Given the description of an element on the screen output the (x, y) to click on. 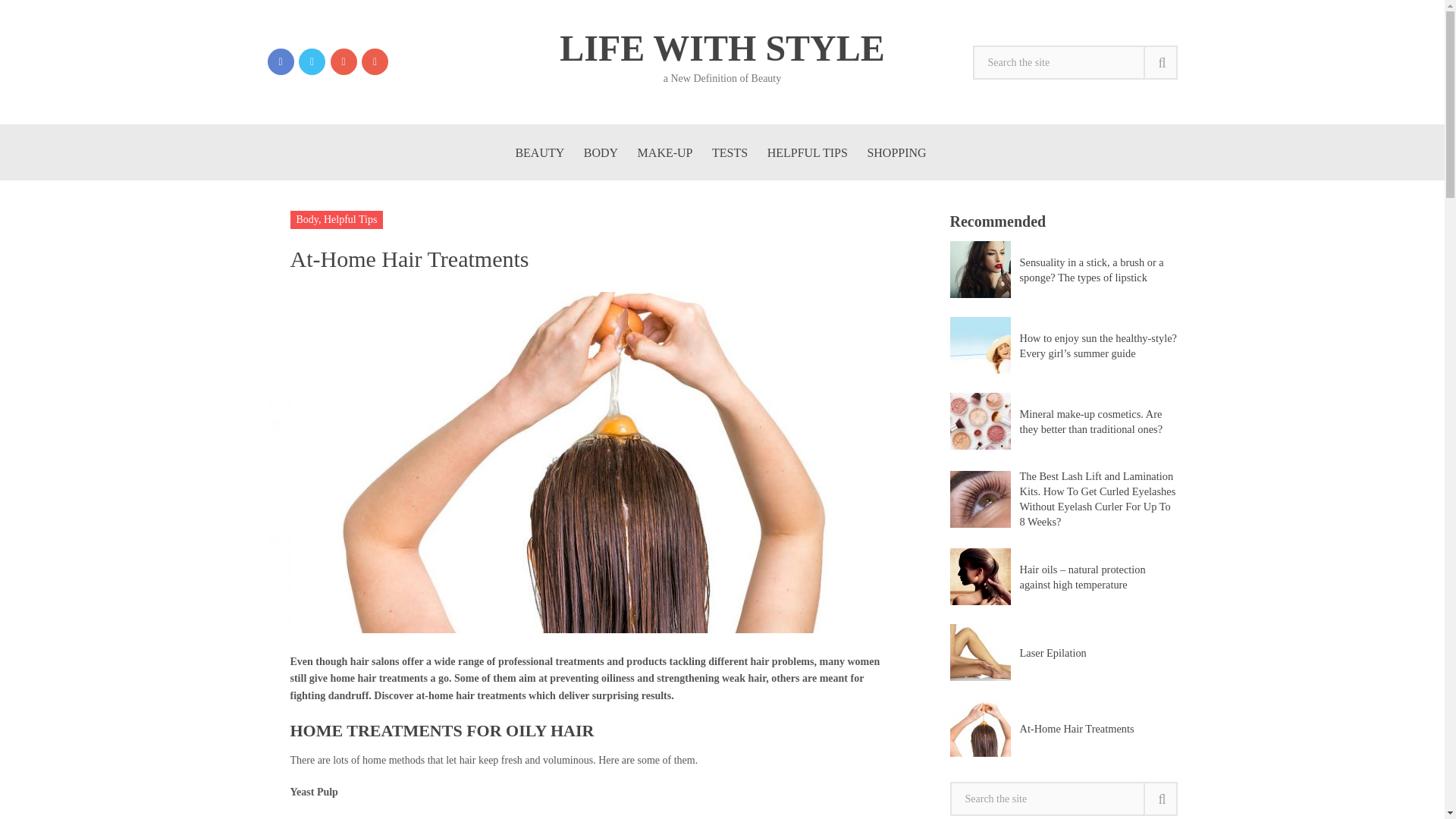
View all posts in Body (306, 219)
LIFE WITH STYLE (722, 48)
Helpful Tips (350, 219)
At-Home Hair Treatments (1062, 728)
MAKE-UP (665, 152)
HELPFUL TIPS (807, 152)
BEAUTY (539, 152)
View all posts in Helpful Tips (350, 219)
